Given the description of an element on the screen output the (x, y) to click on. 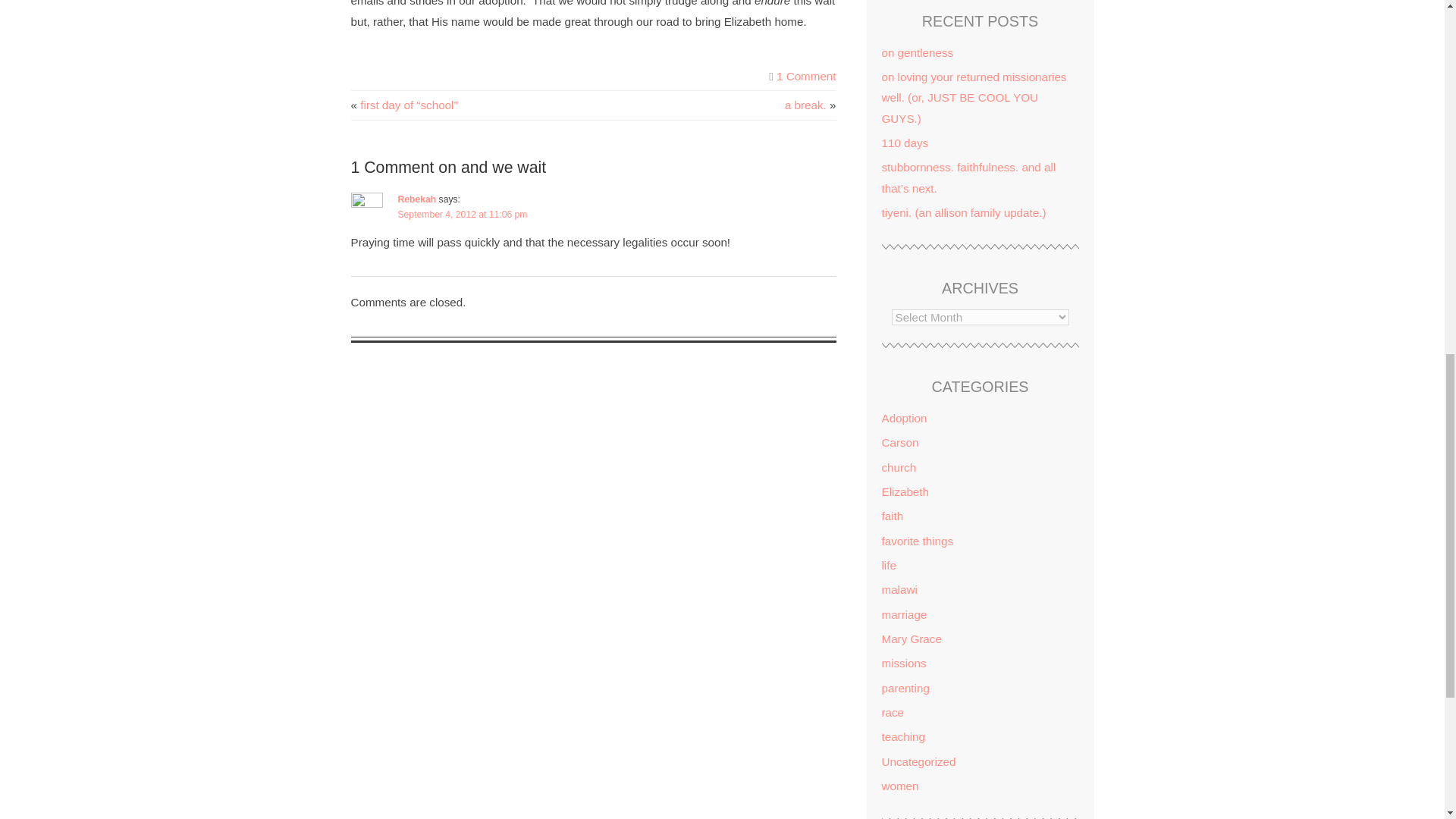
teaching (902, 736)
Elizabeth (904, 491)
faith (891, 515)
Carson (899, 441)
Mary Grace (910, 638)
on gentleness (916, 51)
Uncategorized (917, 761)
church (897, 467)
life (887, 564)
1 Comment (805, 75)
